Given the description of an element on the screen output the (x, y) to click on. 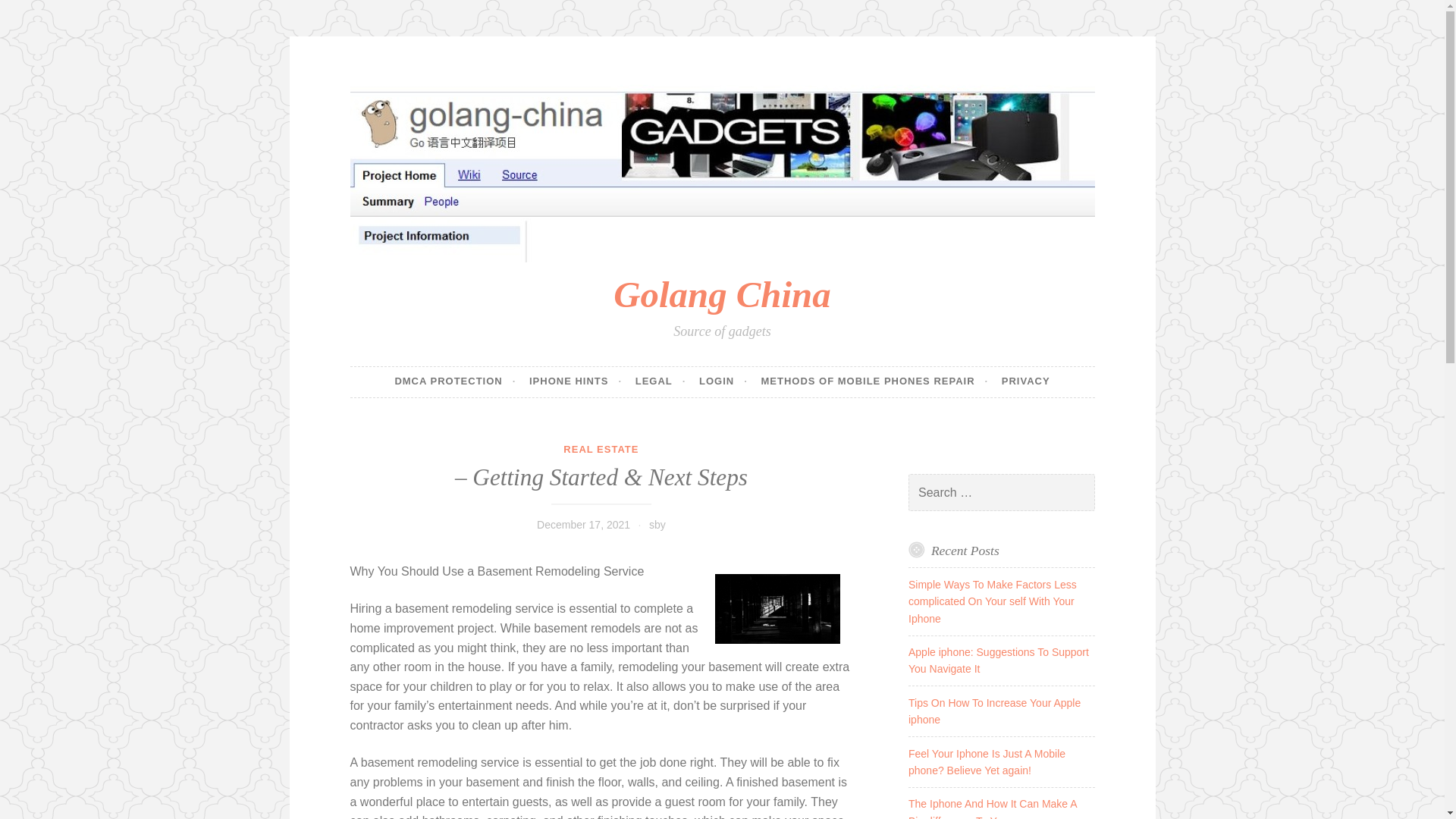
The Iphone And How It Can Make A Big difference To You (992, 808)
Golang China (720, 294)
LEGAL (659, 381)
sby (657, 524)
PRIVACY (1025, 381)
METHODS OF MOBILE PHONES REPAIR (874, 381)
LOGIN (723, 381)
IPHONE HINTS (575, 381)
December 17, 2021 (583, 524)
Apple iphone: Suggestions To Support You Navigate It (998, 660)
Tips On How To Increase Your Apple iphone (994, 710)
Search (33, 13)
Feel Your Iphone Is Just A Mobile phone? Believe Yet again! (986, 761)
